Given the description of an element on the screen output the (x, y) to click on. 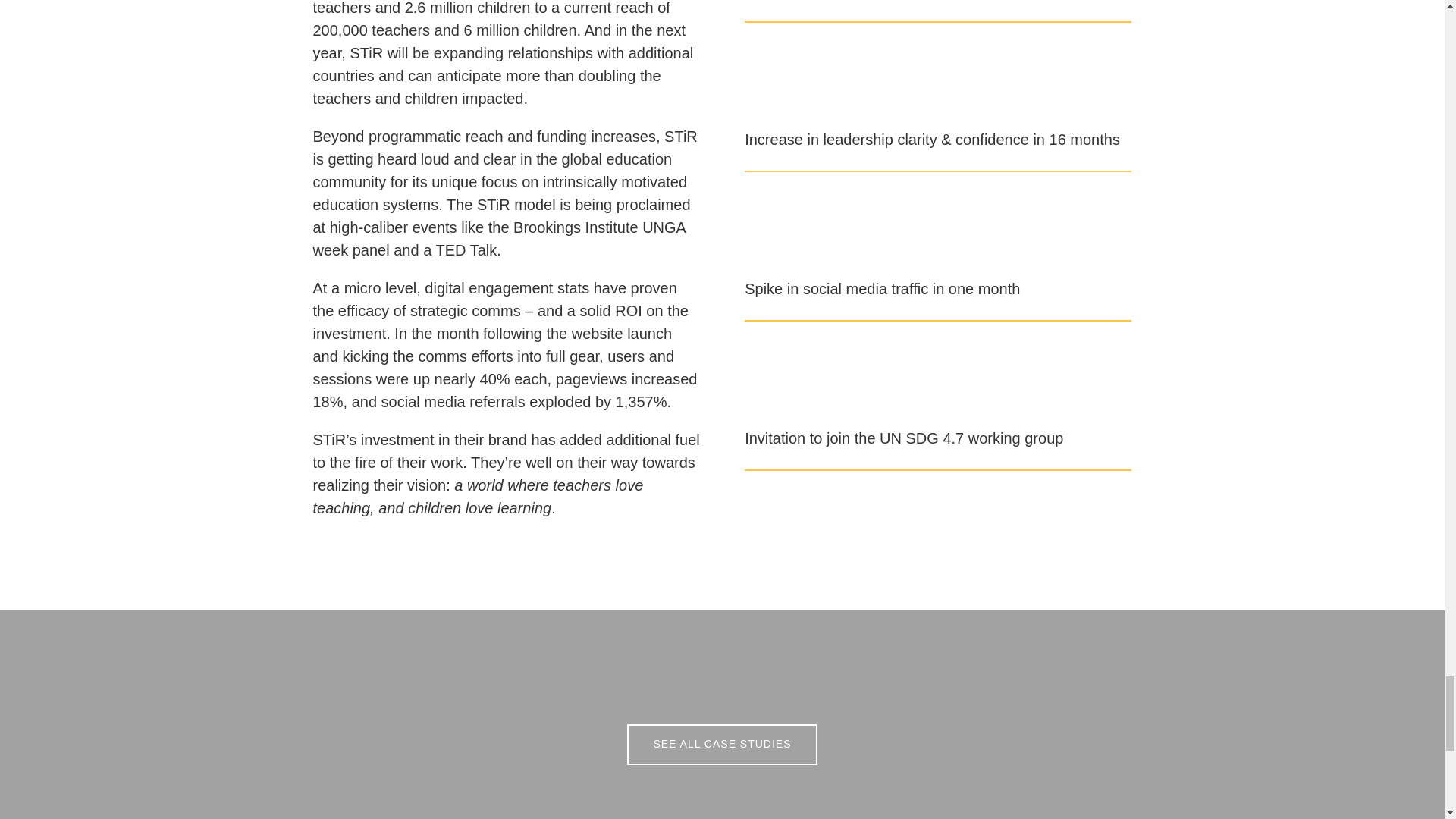
SEE ALL CASE STUDIES (721, 743)
